Given the description of an element on the screen output the (x, y) to click on. 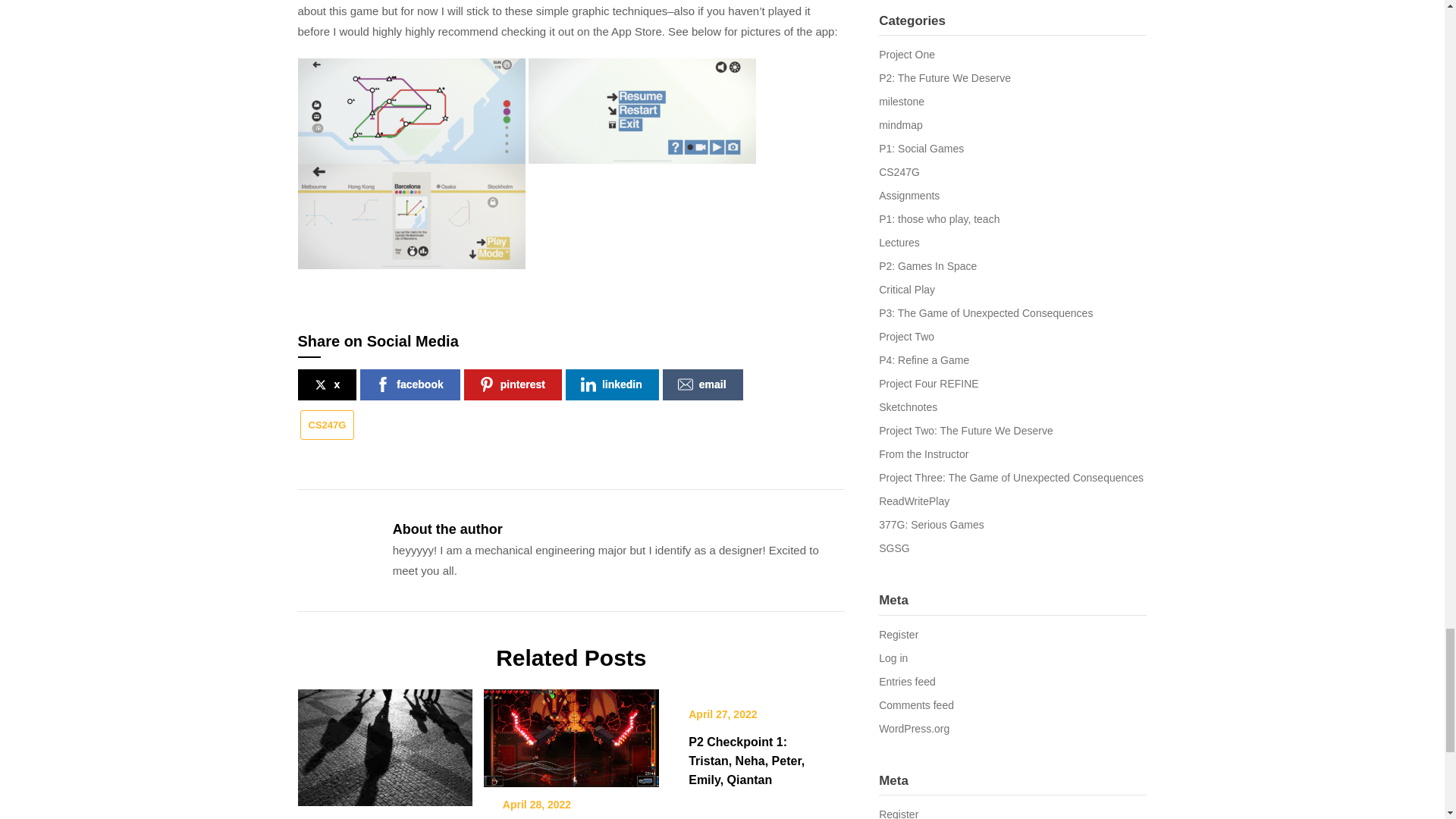
Project 2: Moodboard, Playlist, and Description (384, 742)
Blog Response: Visual Design of Games (571, 732)
